Given the description of an element on the screen output the (x, y) to click on. 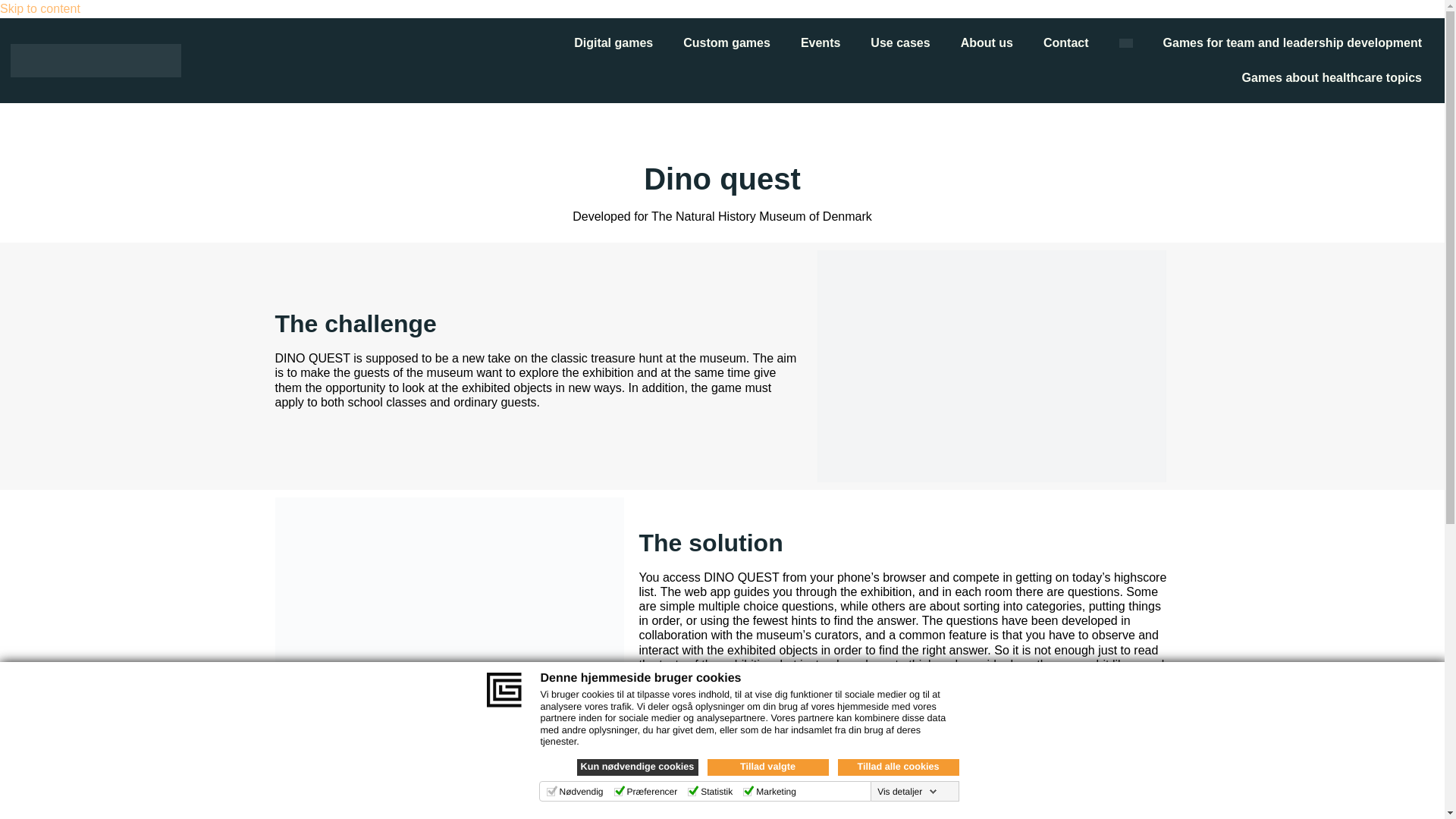
Tillad alle cookies (897, 767)
Vis detaljer (907, 791)
Tillad valgte (767, 767)
